Given the description of an element on the screen output the (x, y) to click on. 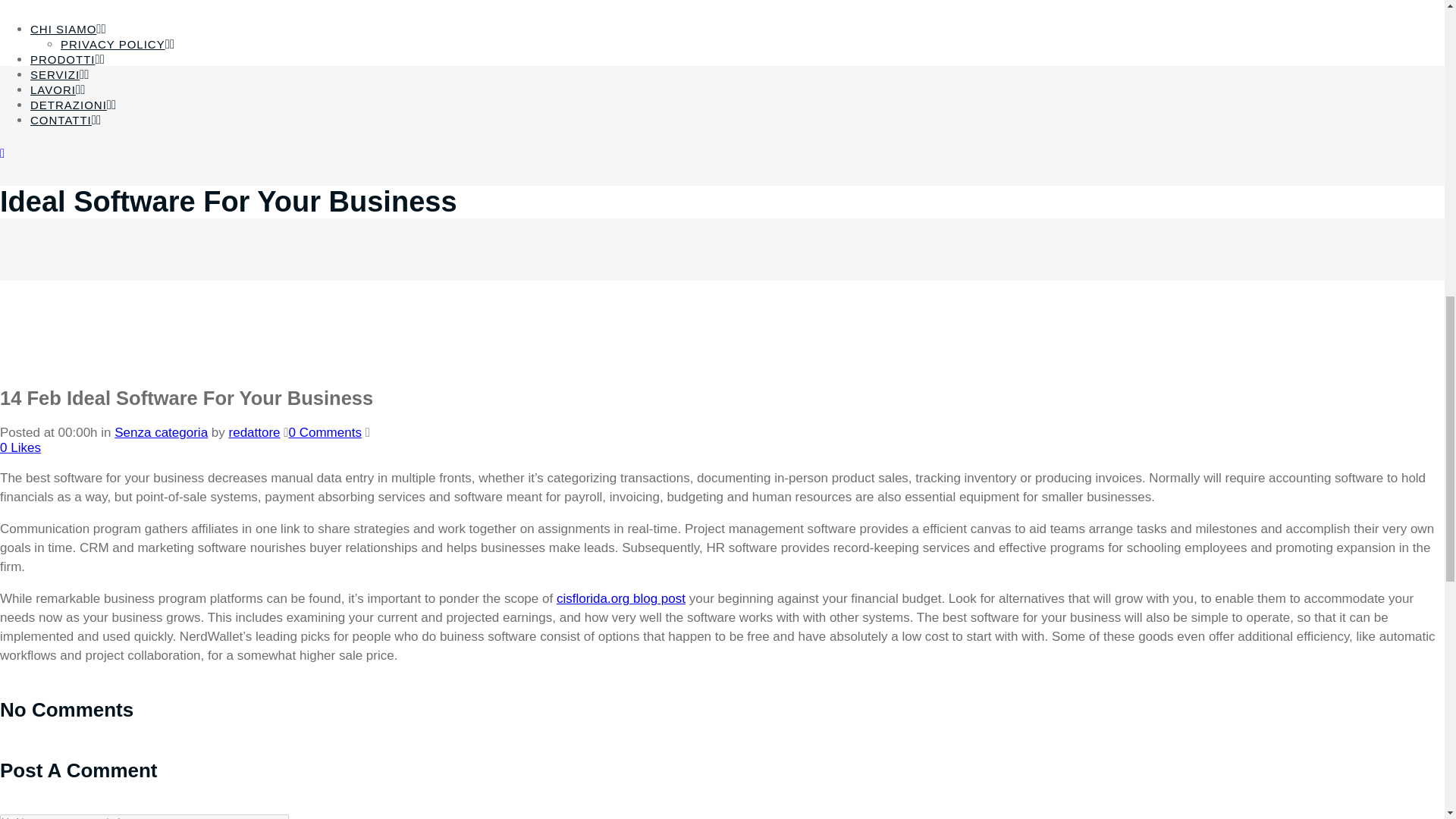
Like this (20, 447)
DETRAZIONI (68, 104)
LAVORI (52, 89)
0 Likes (20, 447)
PRODOTTI (63, 59)
CHI SIAMO (63, 29)
CONTATTI (60, 119)
PRIVACY POLICY (113, 43)
redattore (254, 432)
cisflorida.org blog post (620, 598)
Senza categoria (161, 432)
0 Comments (324, 432)
SERVIZI (55, 74)
